Given the description of an element on the screen output the (x, y) to click on. 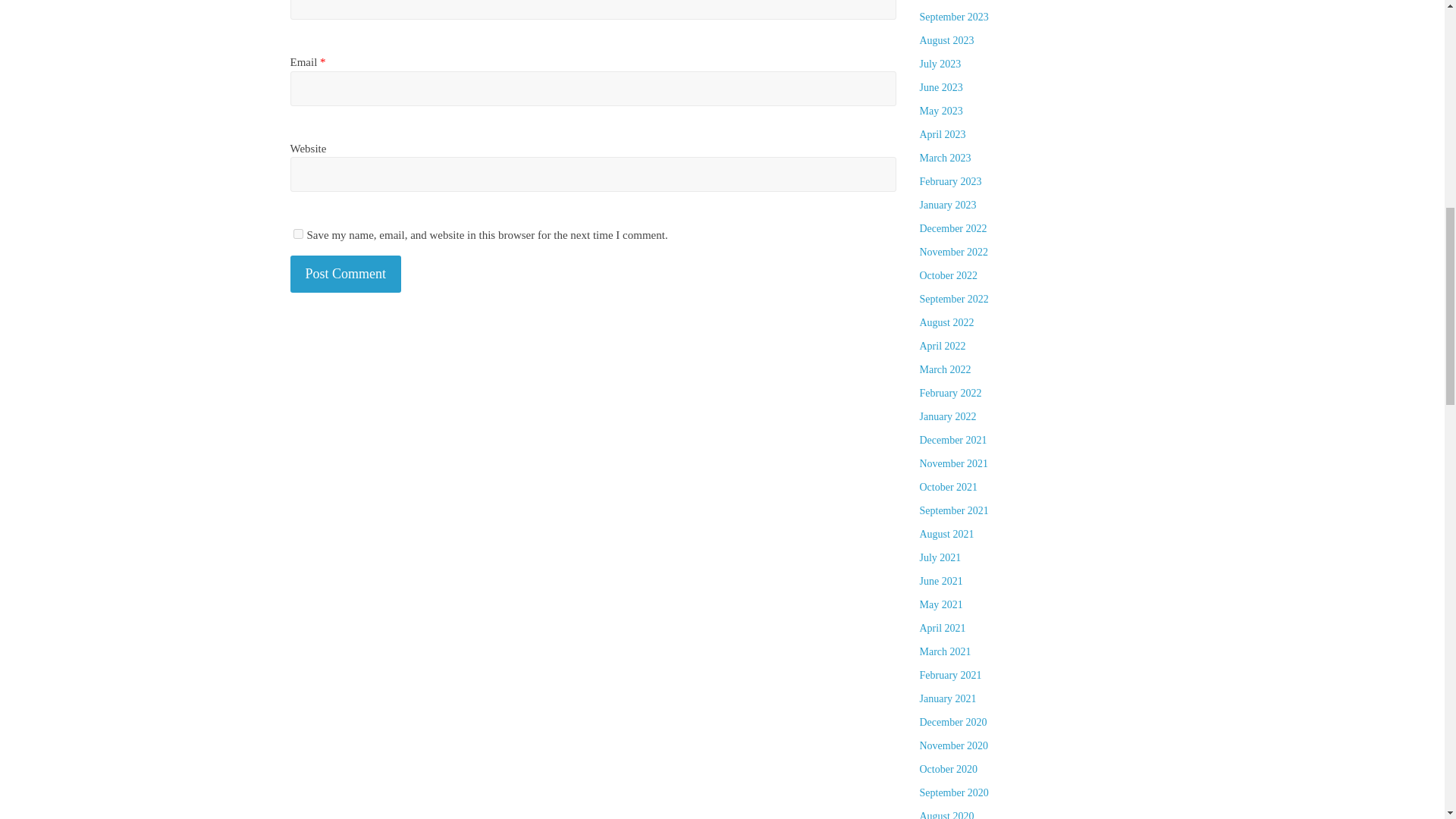
July 2023 (939, 63)
April 2023 (941, 134)
February 2023 (949, 181)
Post Comment (345, 273)
June 2023 (940, 87)
August 2023 (946, 40)
January 2023 (946, 204)
yes (297, 234)
March 2023 (944, 157)
May 2023 (940, 111)
